Given the description of an element on the screen output the (x, y) to click on. 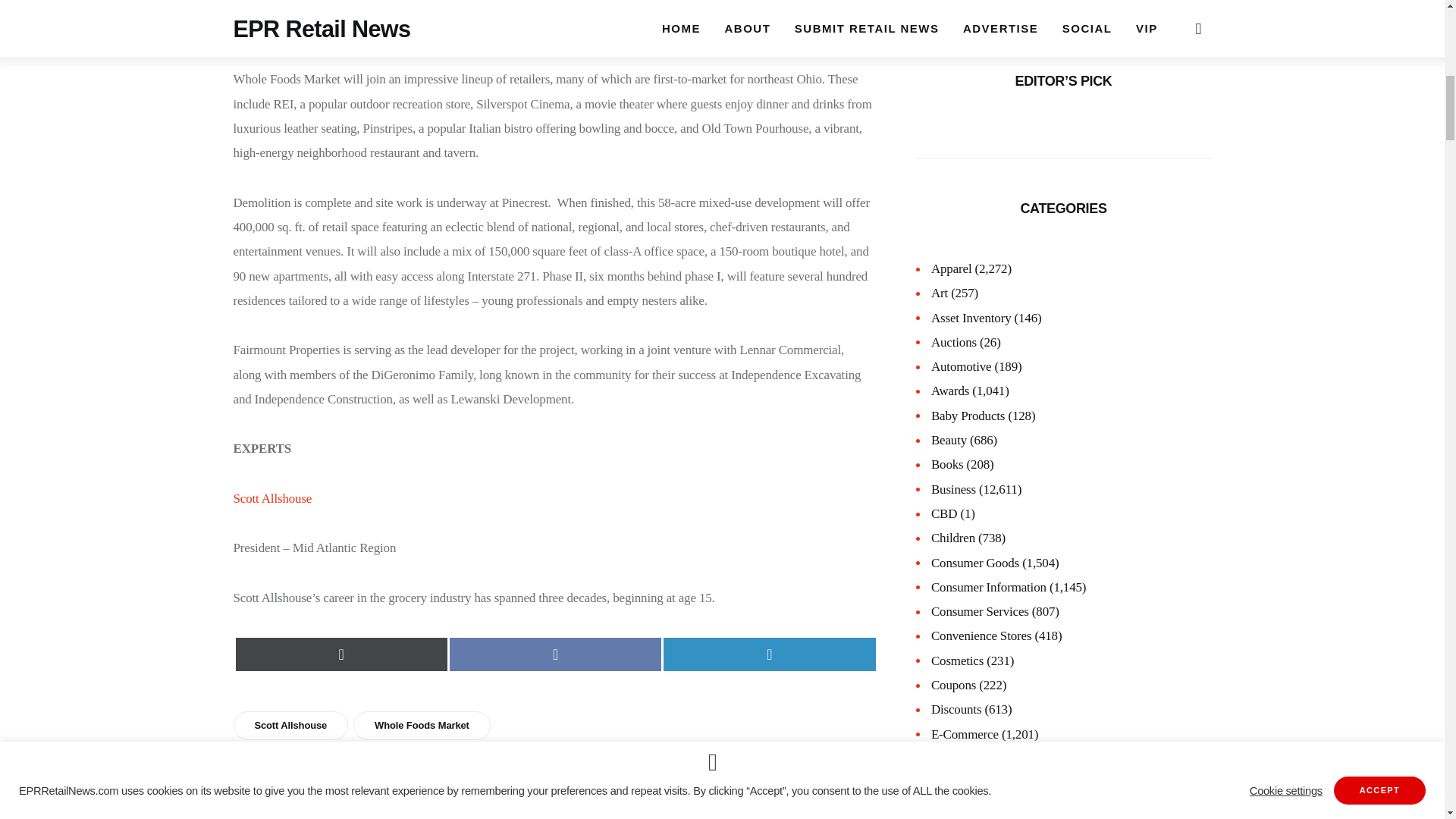
Copy URL to clipboard (384, 815)
